Given the description of an element on the screen output the (x, y) to click on. 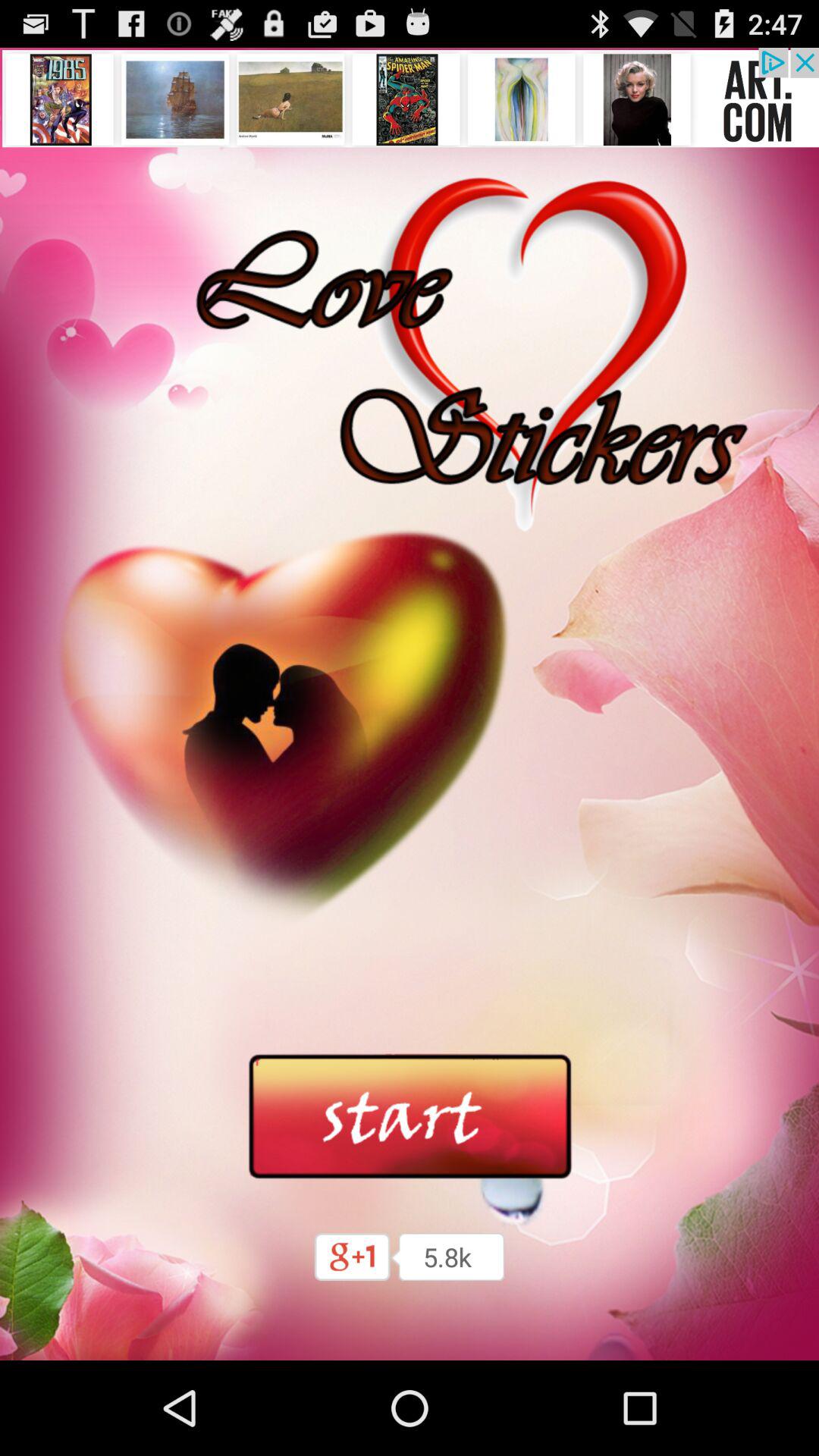
start application (409, 1116)
